Given the description of an element on the screen output the (x, y) to click on. 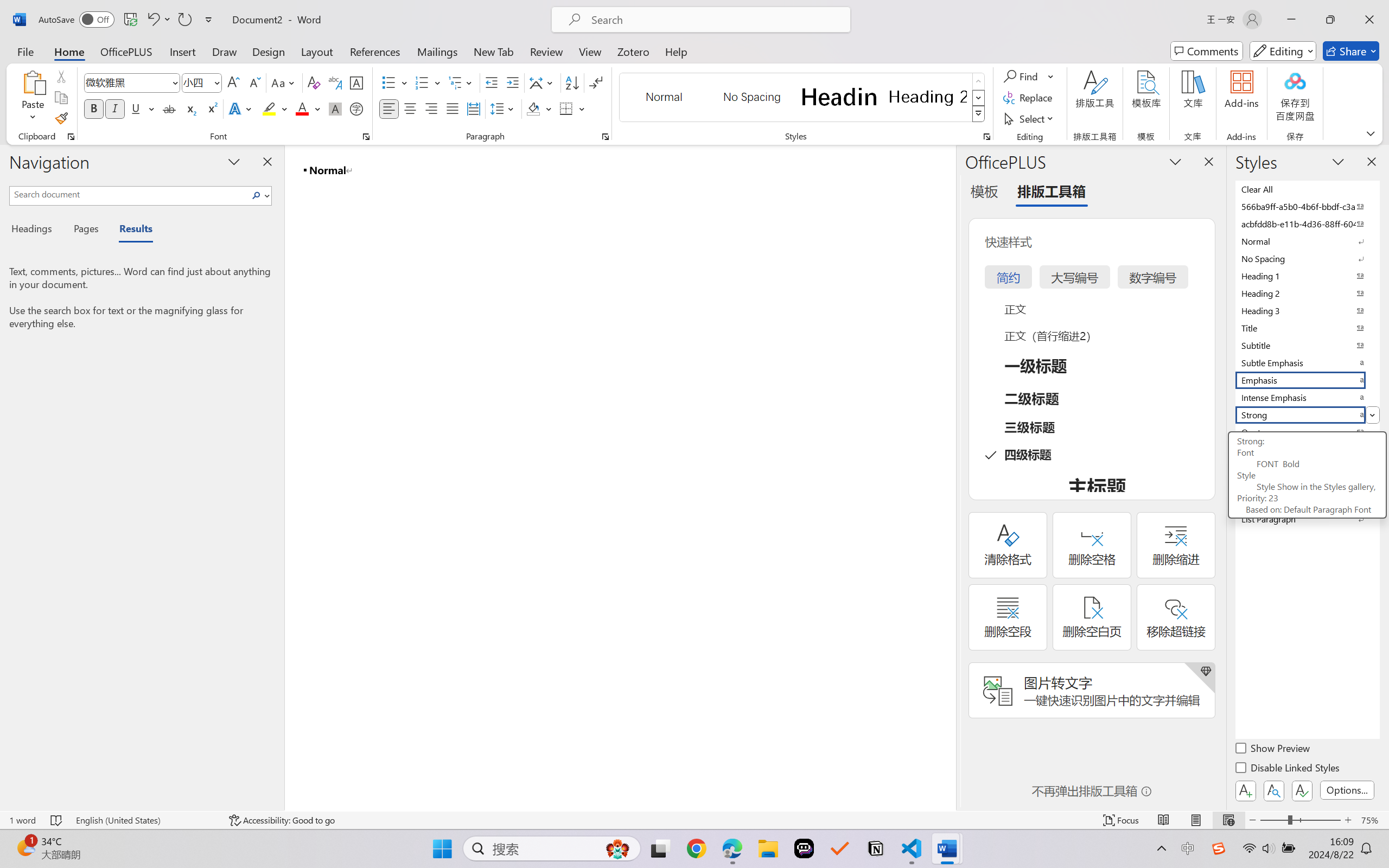
Quote (1306, 431)
Change Case (284, 82)
Align Left (388, 108)
Options... (1346, 789)
Zoom (1300, 819)
Font (132, 82)
Subtitle (1306, 345)
Minimize (1291, 19)
Row up (978, 81)
Class: NetUIImage (978, 114)
Read Mode (1163, 819)
Search (259, 195)
Save (130, 19)
Intense Emphasis (1306, 397)
